Given the description of an element on the screen output the (x, y) to click on. 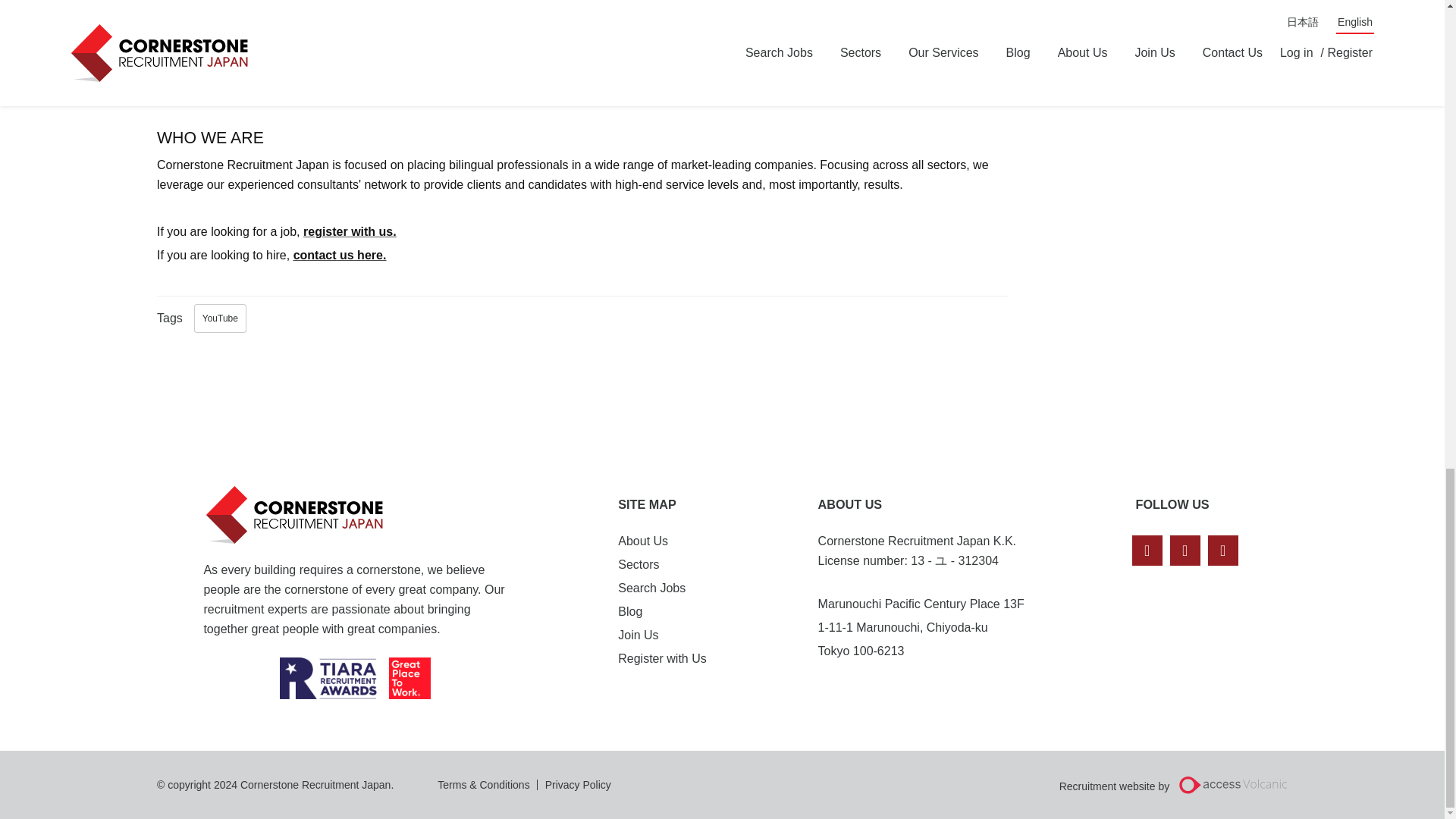
YouTube (220, 318)
contact us here. (340, 254)
Instagram (1223, 550)
YouTube video player (368, 43)
LinkedIn (1146, 550)
Go to the Homepage (298, 514)
register with us (347, 231)
Youtube (1184, 550)
